Given the description of an element on the screen output the (x, y) to click on. 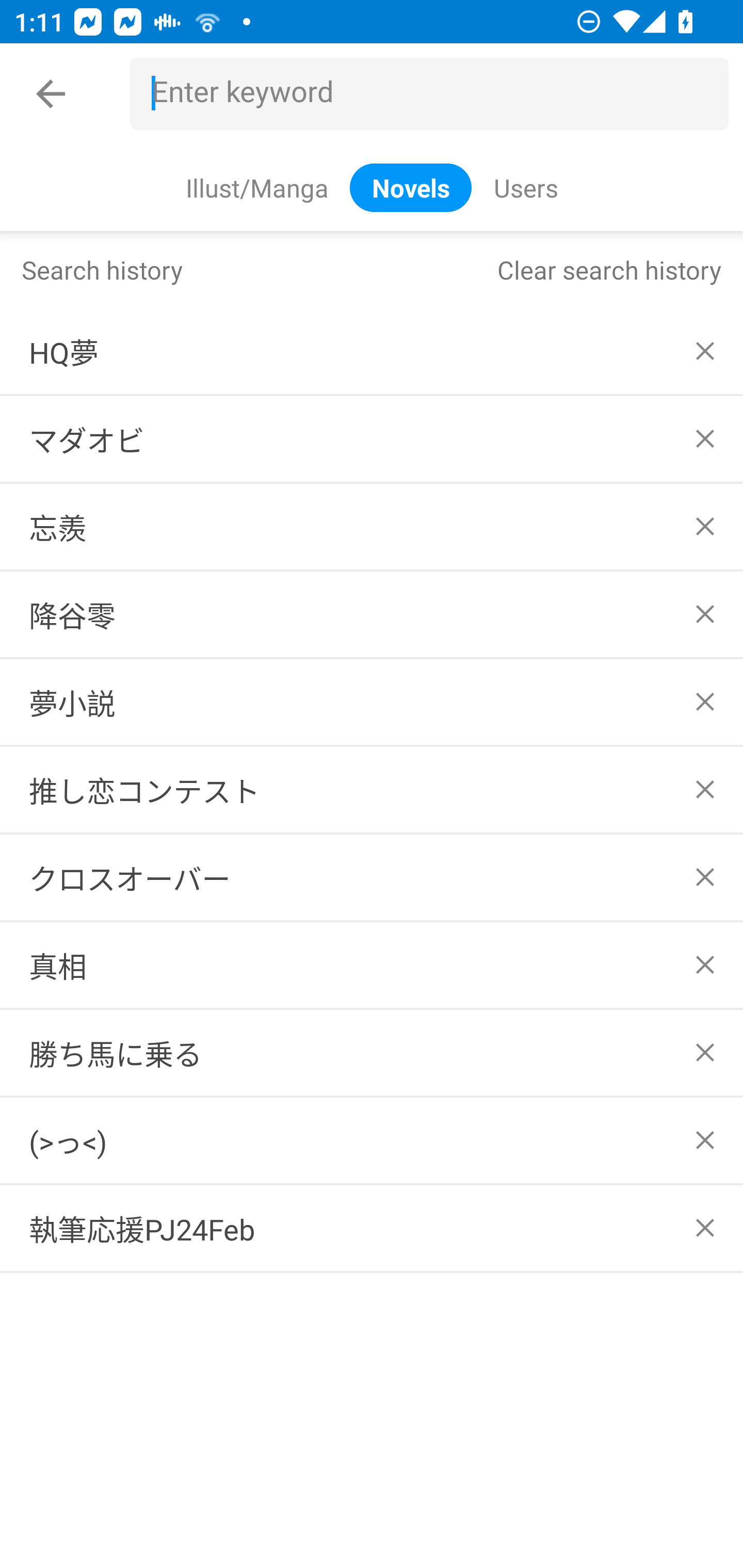
Navigate up (50, 93)
Enter keyword (436, 94)
Illust/Manga (256, 187)
Novels (410, 187)
Users (525, 187)
Clear search history (609, 269)
HQ夢 (371, 350)
マダオビ (371, 438)
忘羨 (371, 526)
降谷零 (371, 613)
夢小説 (371, 701)
推し恋コンテスト (371, 789)
クロスオーバー (371, 877)
真相 (371, 964)
勝ち馬に乗る (371, 1052)
(>っ<) (371, 1140)
執筆応援PJ24Feb (371, 1228)
